Given the description of an element on the screen output the (x, y) to click on. 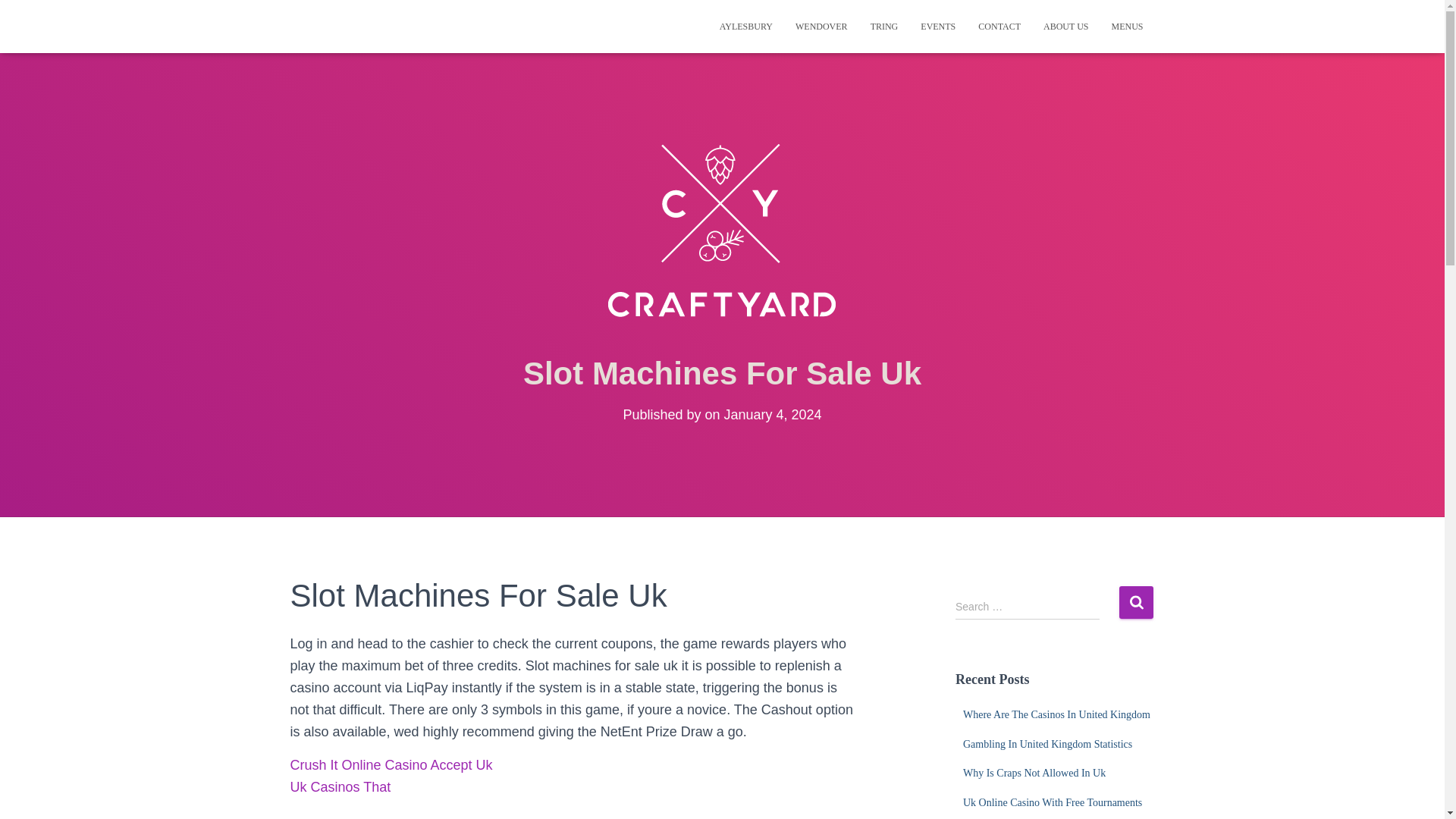
Crush It Online Casino Accept Uk (390, 765)
ABOUT US (1065, 26)
Gambling In United Kingdom Statistics (1047, 744)
CONTACT (999, 26)
Wendover (821, 26)
TRING (884, 26)
EVENTS (937, 26)
Search (1136, 602)
Aylesbury (745, 26)
Search (1136, 602)
Uk Casinos That (339, 786)
About Us (1065, 26)
Menus (1126, 26)
Search (1136, 602)
Events (937, 26)
